Given the description of an element on the screen output the (x, y) to click on. 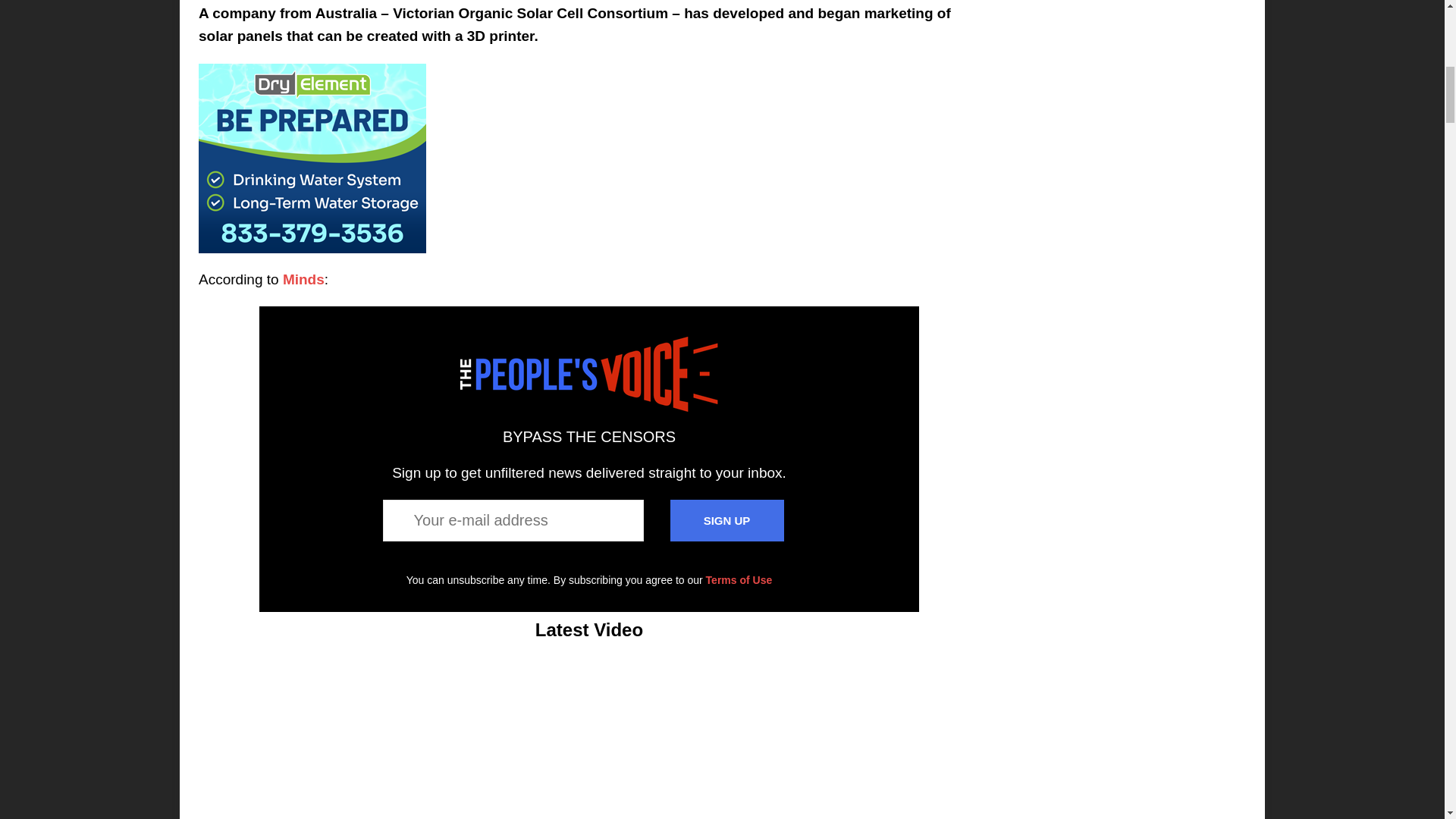
SIGN UP (726, 520)
